Given the description of an element on the screen output the (x, y) to click on. 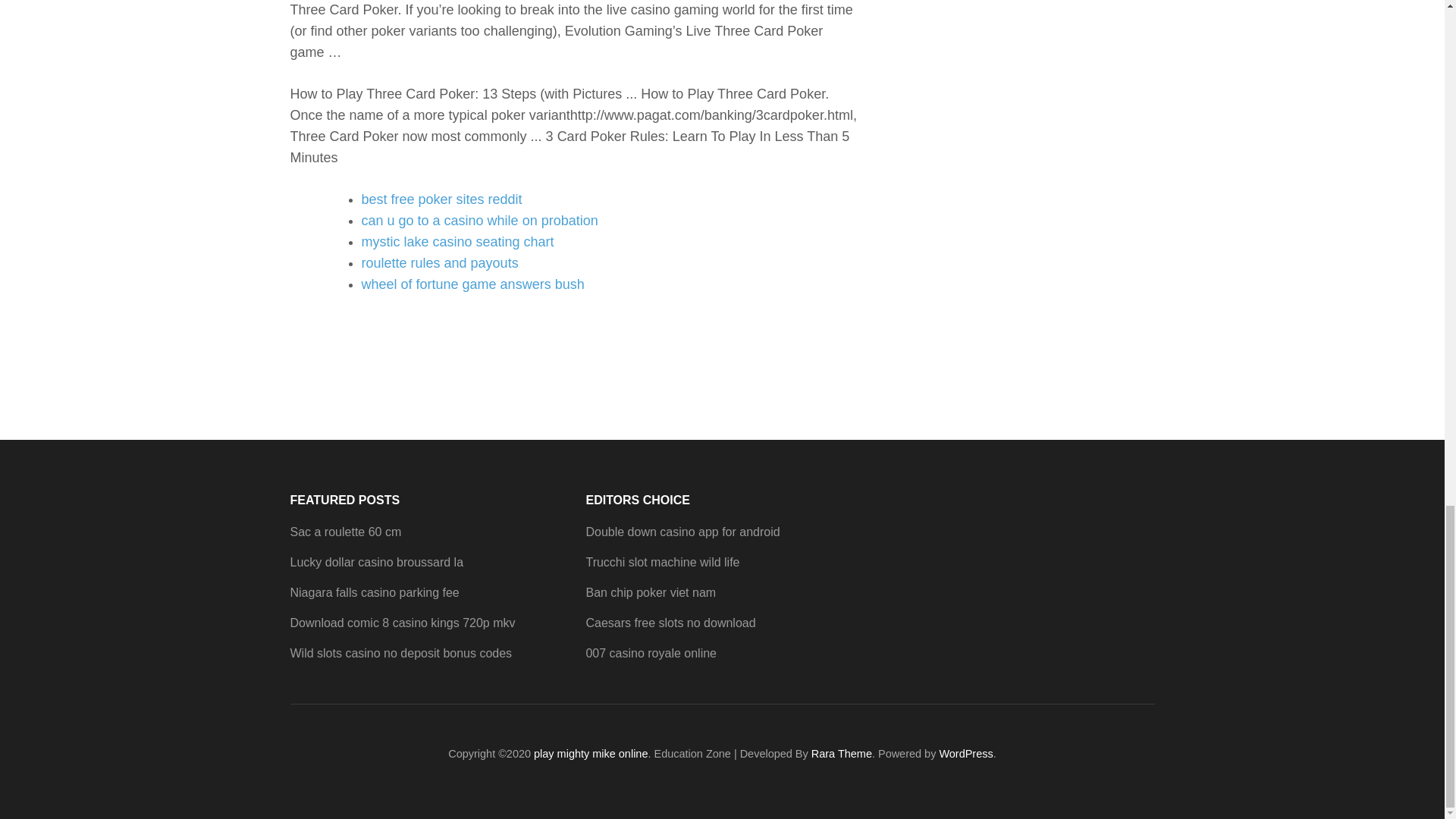
Wild slots casino no deposit bonus codes (400, 653)
best free poker sites reddit (441, 199)
mystic lake casino seating chart (457, 241)
can u go to a casino while on probation (478, 220)
007 casino royale online (650, 653)
Trucchi slot machine wild life (662, 562)
Caesars free slots no download (670, 622)
play mighty mike online (590, 753)
Lucky dollar casino broussard la (376, 562)
Sac a roulette 60 cm (345, 531)
